Given the description of an element on the screen output the (x, y) to click on. 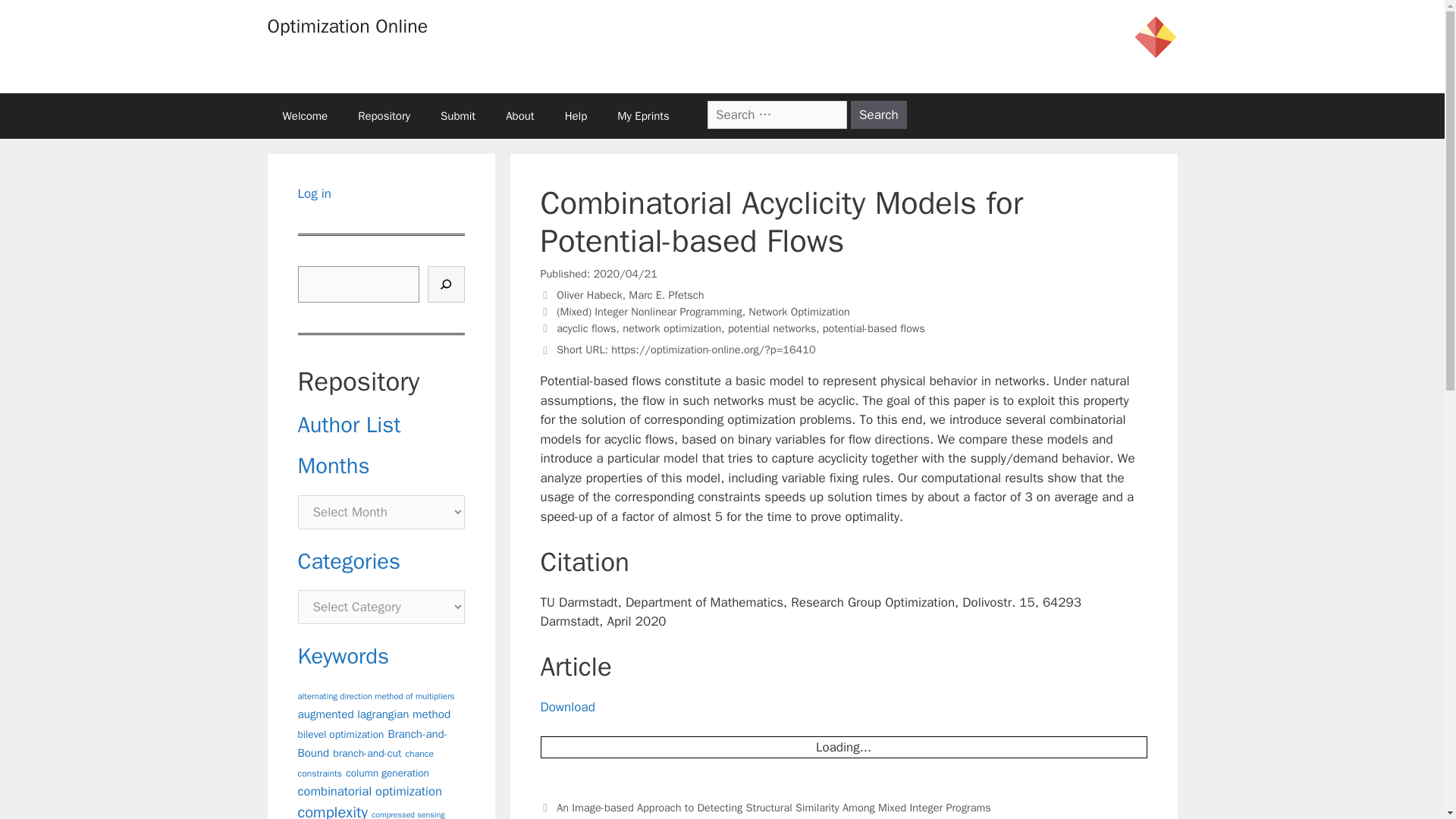
Repository (383, 115)
Network Optimization (799, 311)
compressed sensing (407, 814)
Previous (765, 807)
alternating direction method of multipliers (375, 696)
bilevel optimization (340, 734)
Download (567, 706)
potential-based flows (873, 327)
combinatorial optimization (369, 790)
chance constraints (364, 763)
Search (878, 113)
Welcome (304, 115)
My Eprints (643, 115)
Categories (348, 561)
